Given the description of an element on the screen output the (x, y) to click on. 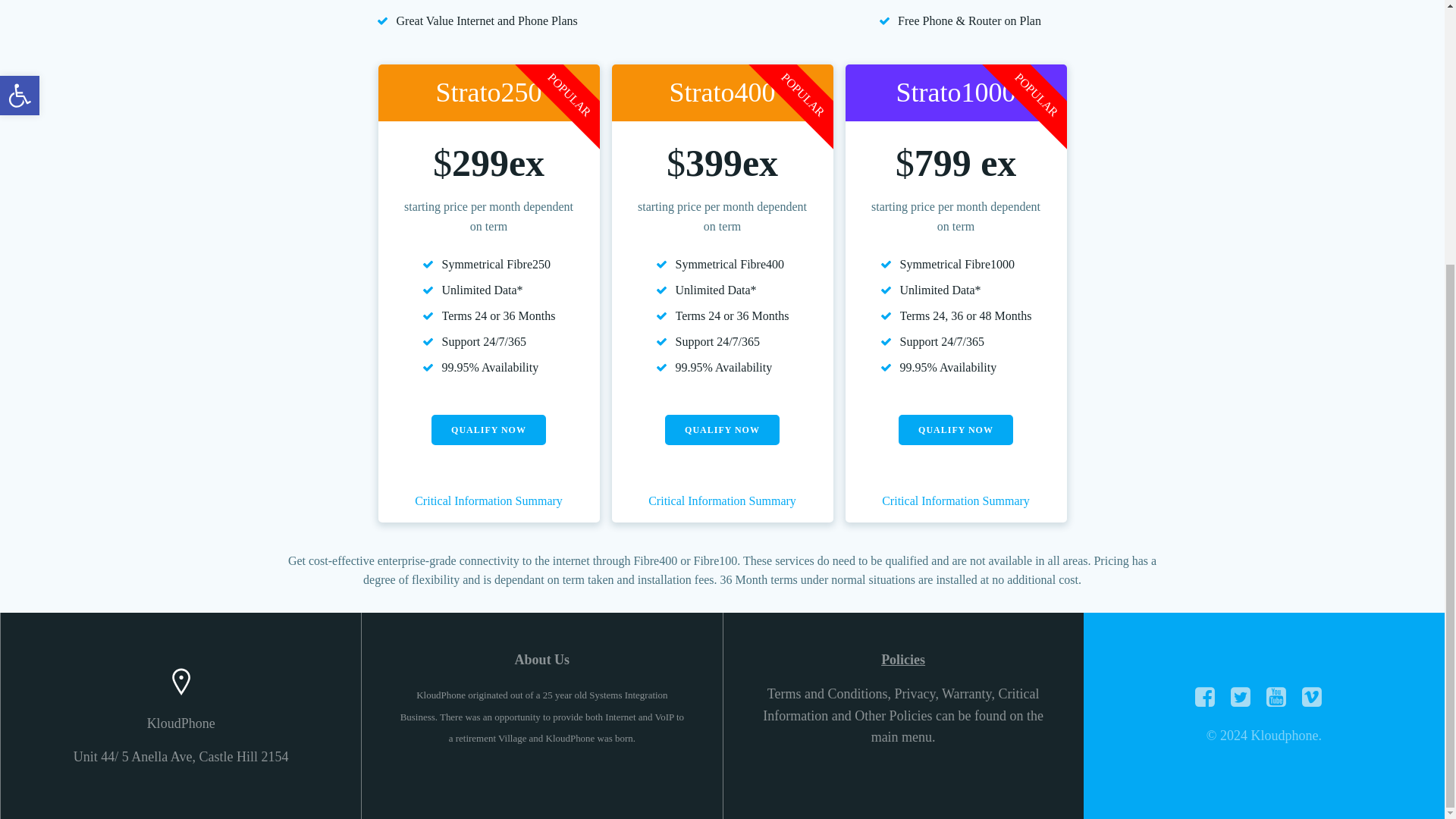
QUALIFY NOW (721, 429)
QUALIFY NOW (955, 429)
Critical Information Summary (488, 500)
Critical Information Summary (955, 500)
Critical Information Summary (721, 500)
QUALIFY NOW (488, 429)
